Given the description of an element on the screen output the (x, y) to click on. 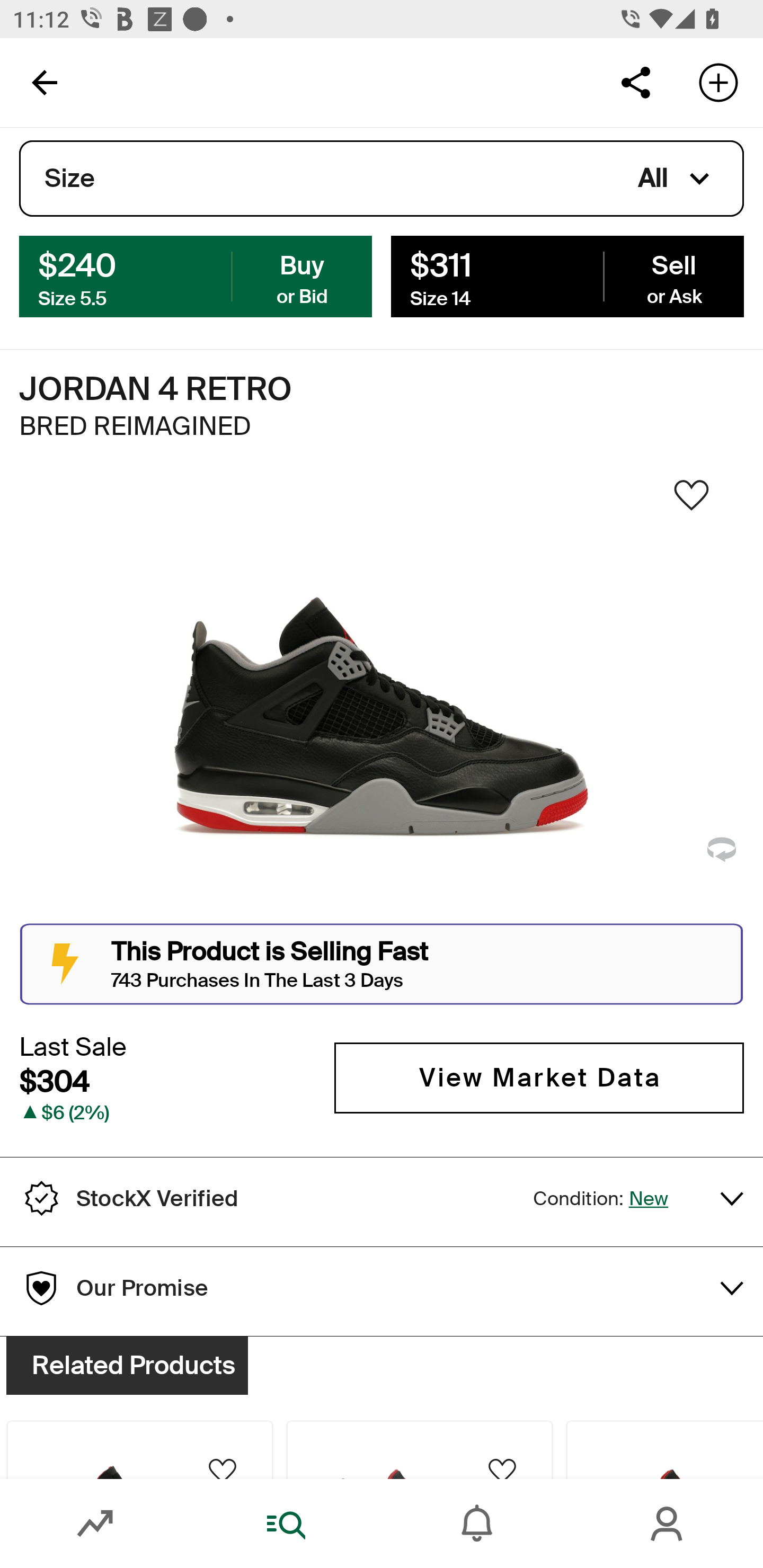
Share (635, 81)
Size All (381, 178)
$240 Buy Size 5.5 or Bid (195, 275)
$311 Sell Size 14 or Ask (566, 275)
Sneaker Image (381, 699)
View Market Data (538, 1077)
Market (95, 1523)
Inbox (476, 1523)
Account (667, 1523)
